Given the description of an element on the screen output the (x, y) to click on. 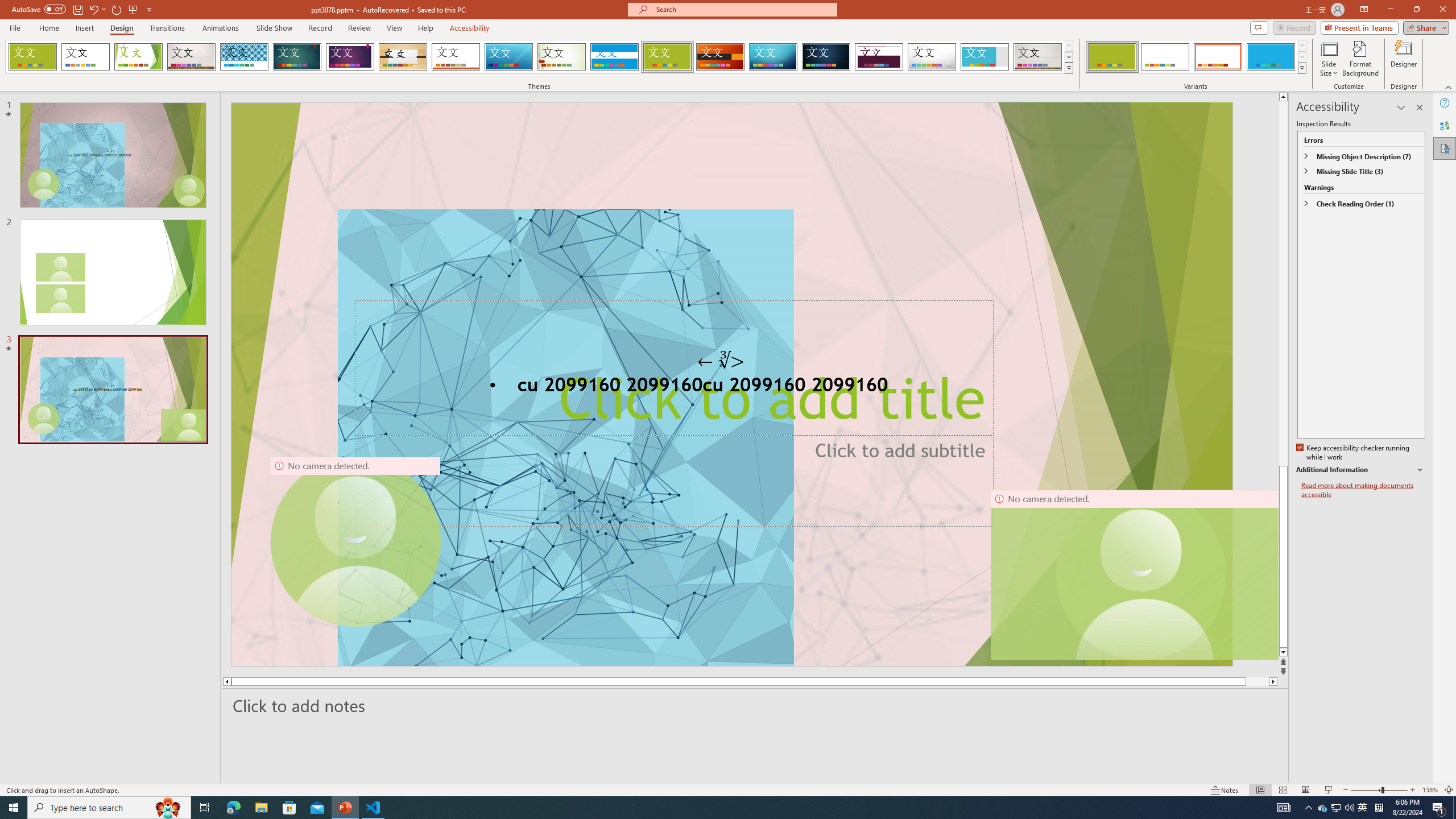
TextBox 7 (720, 359)
Droplet (931, 56)
AutomationID: SlideThemesGallery (539, 56)
